Given the description of an element on the screen output the (x, y) to click on. 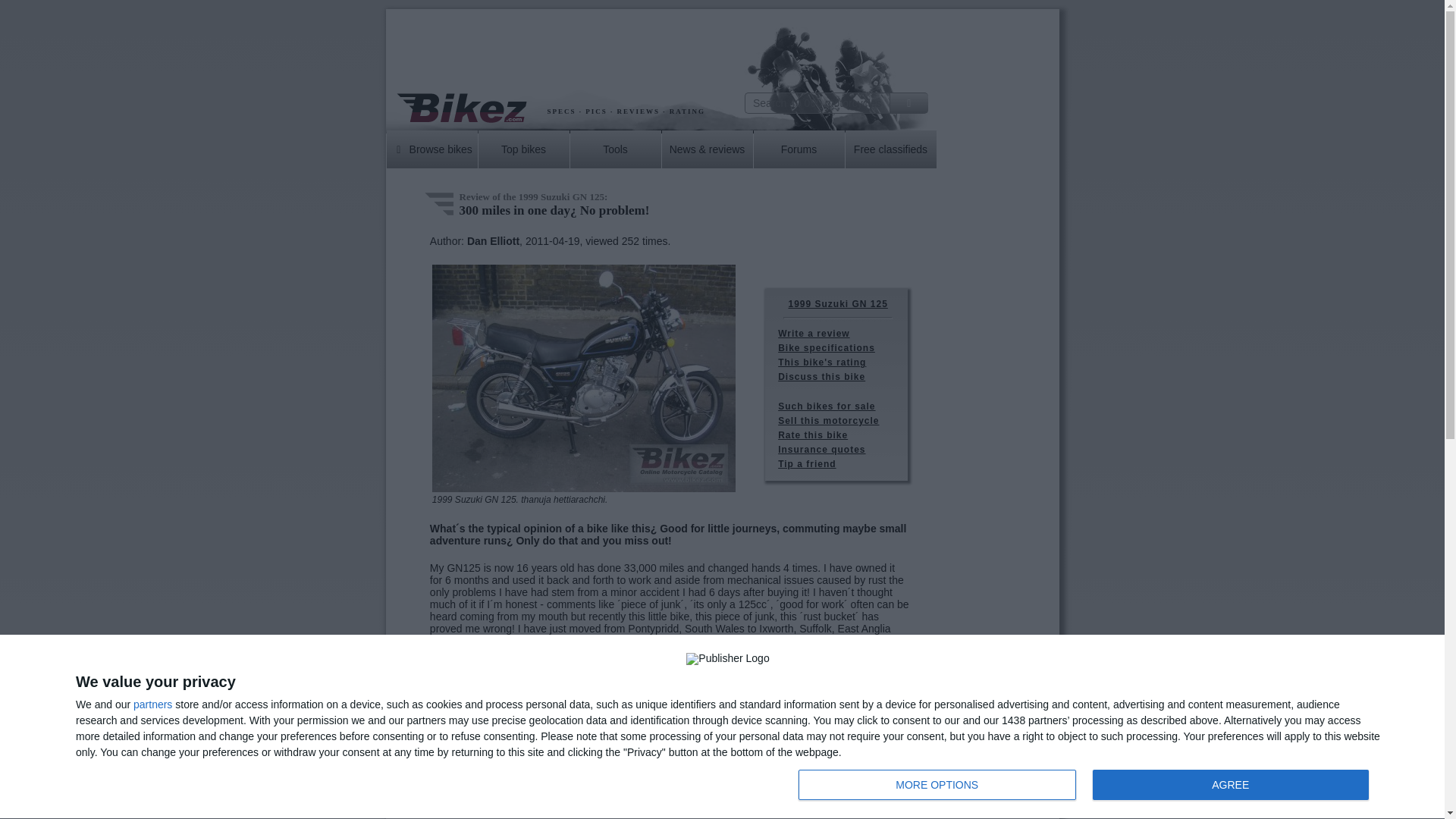
Find motorcycle (908, 102)
Forums (799, 149)
partners (1086, 785)
AGREE (152, 704)
Tools (1230, 784)
1999 Suzuki GN 125 review (615, 149)
MORE OPTIONS (438, 202)
Browse bikes (936, 784)
1999 Suzuki GN 125 (432, 149)
